Given the description of an element on the screen output the (x, y) to click on. 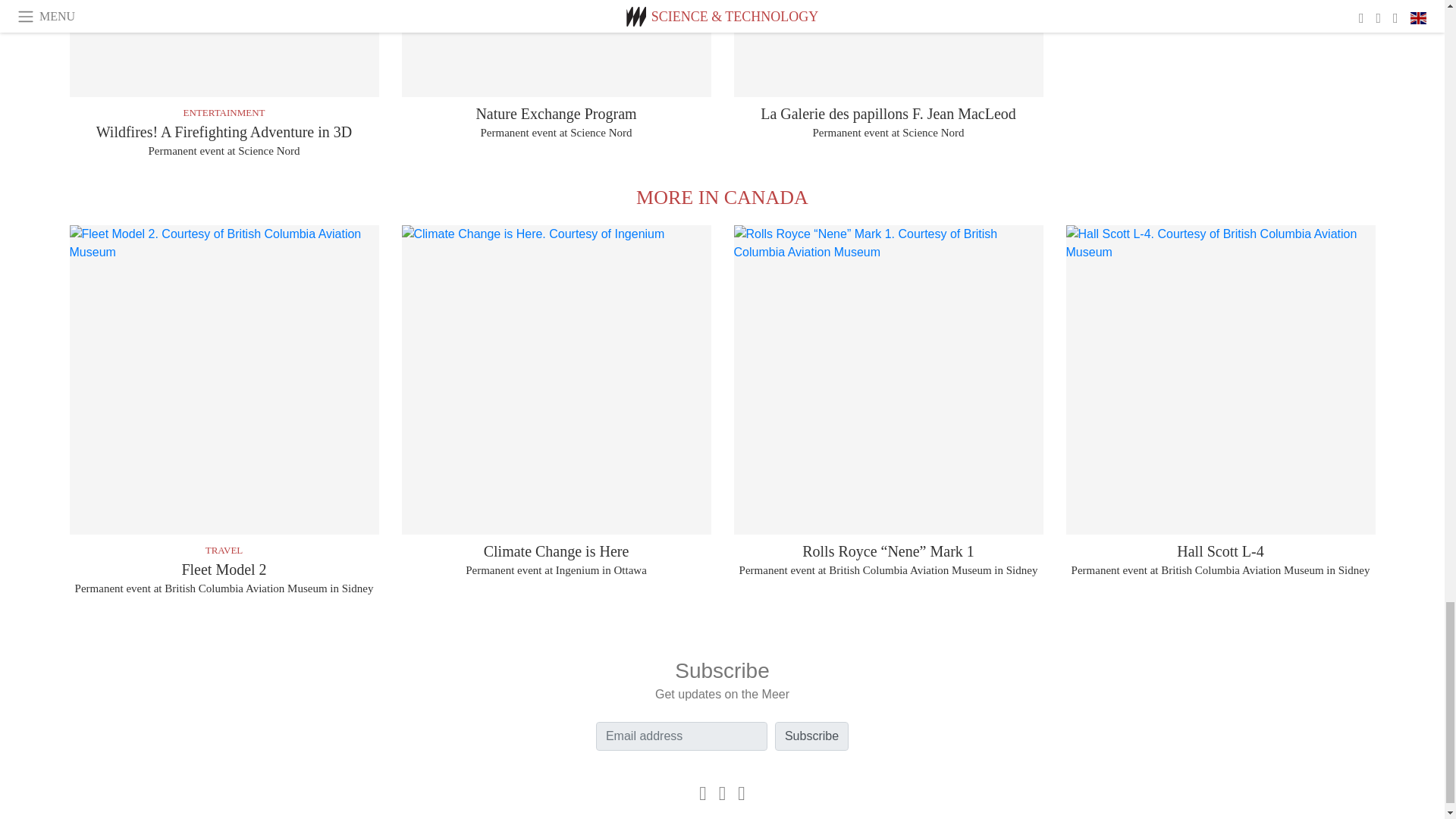
Subscribe (811, 736)
